Given the description of an element on the screen output the (x, y) to click on. 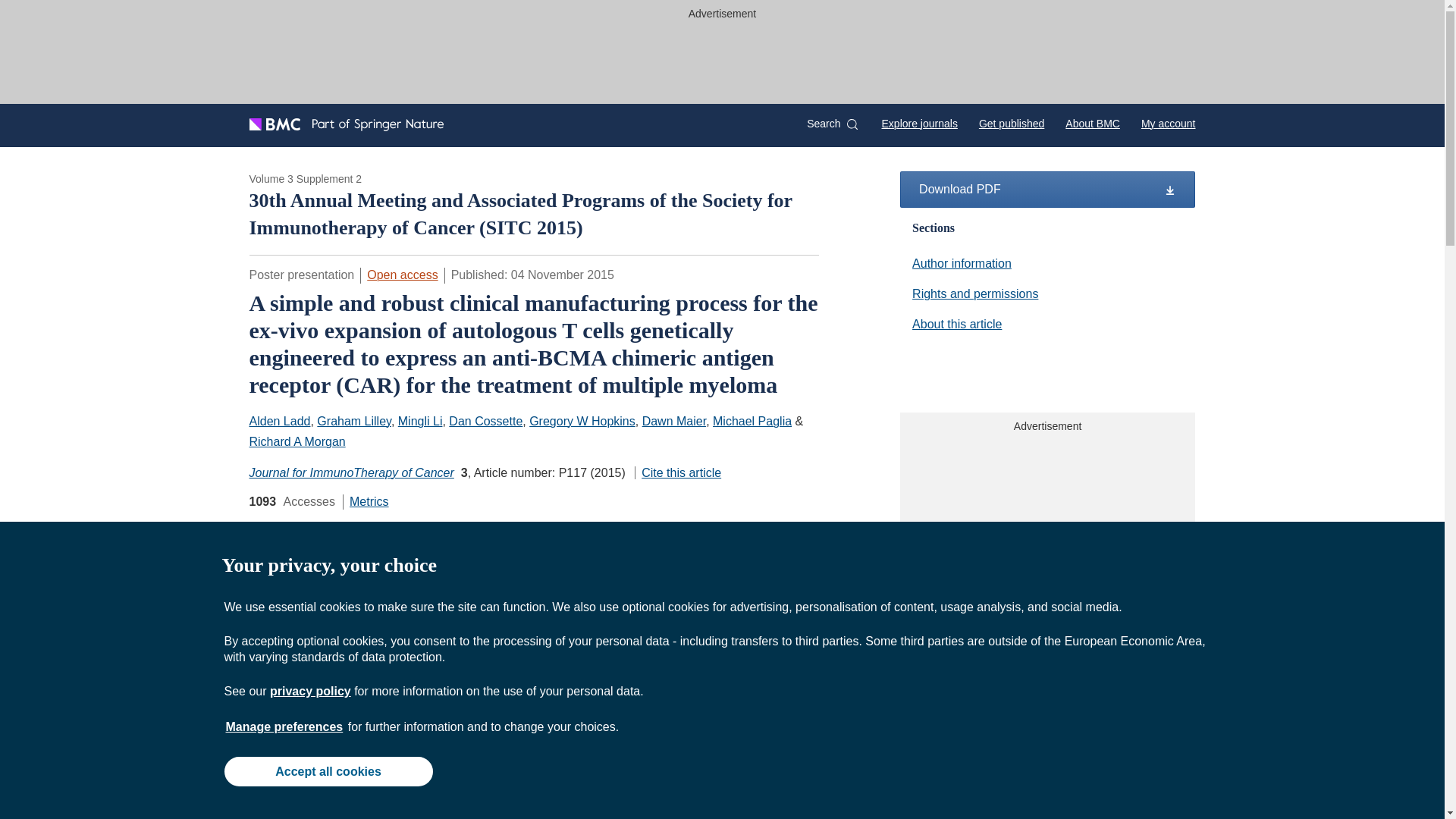
Alden Ladd (279, 420)
Richard A Morgan (296, 440)
Mingli Li (419, 420)
Get published (1010, 123)
Dan Cossette (485, 420)
Gregory W Hopkins (581, 420)
My account (1168, 123)
Michael Paglia (752, 420)
Cite this article (677, 472)
Explore journals (920, 123)
Search (831, 123)
Manage preferences (284, 726)
Graham Lilley (354, 420)
About BMC (1092, 123)
Open access (402, 274)
